Given the description of an element on the screen output the (x, y) to click on. 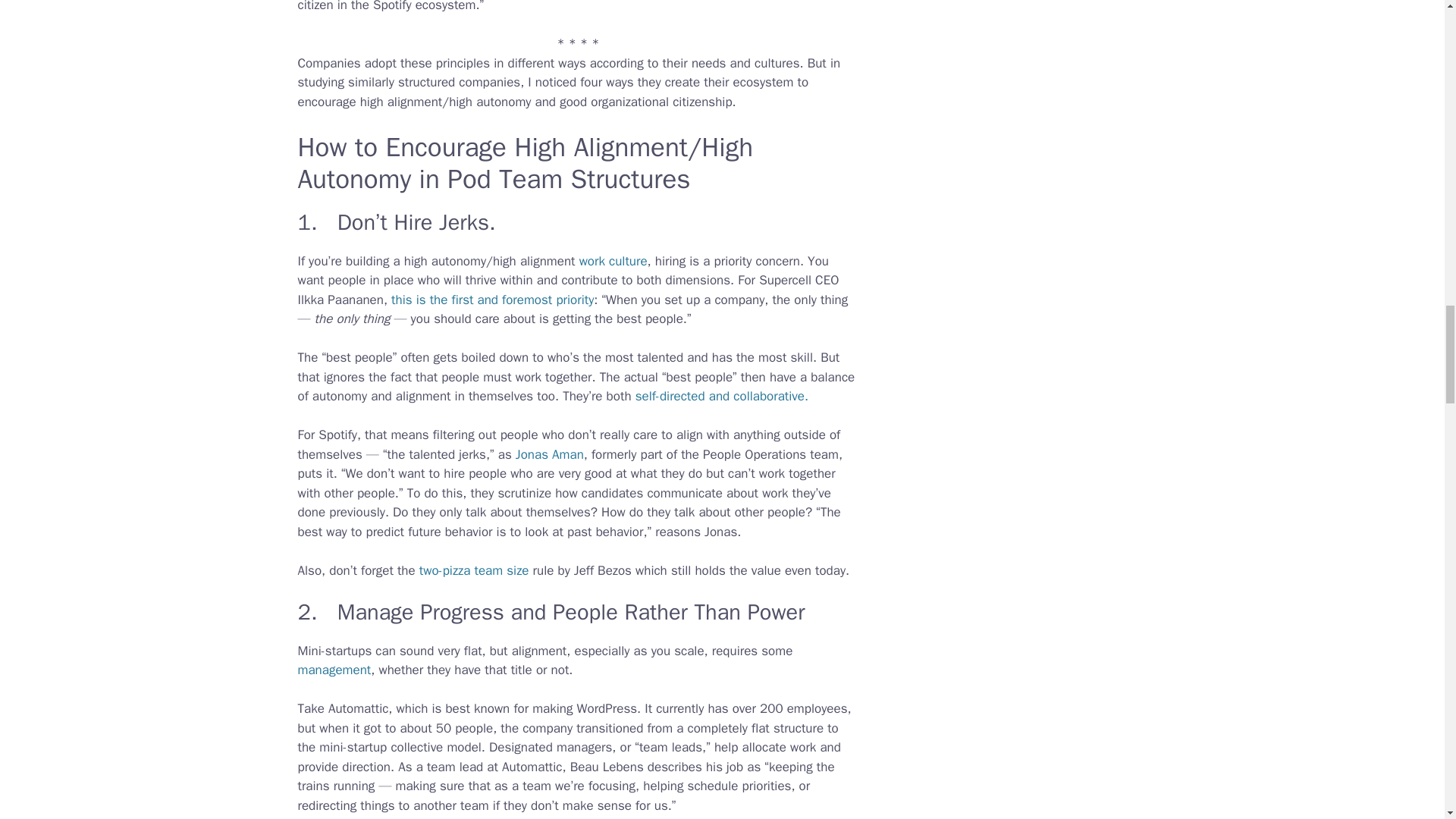
Jonas Aman (549, 454)
self-directed and collaborative. (721, 396)
this is the first and foremost priority (492, 299)
work culture (613, 261)
management (334, 669)
two-pizza team size (474, 570)
